Given the description of an element on the screen output the (x, y) to click on. 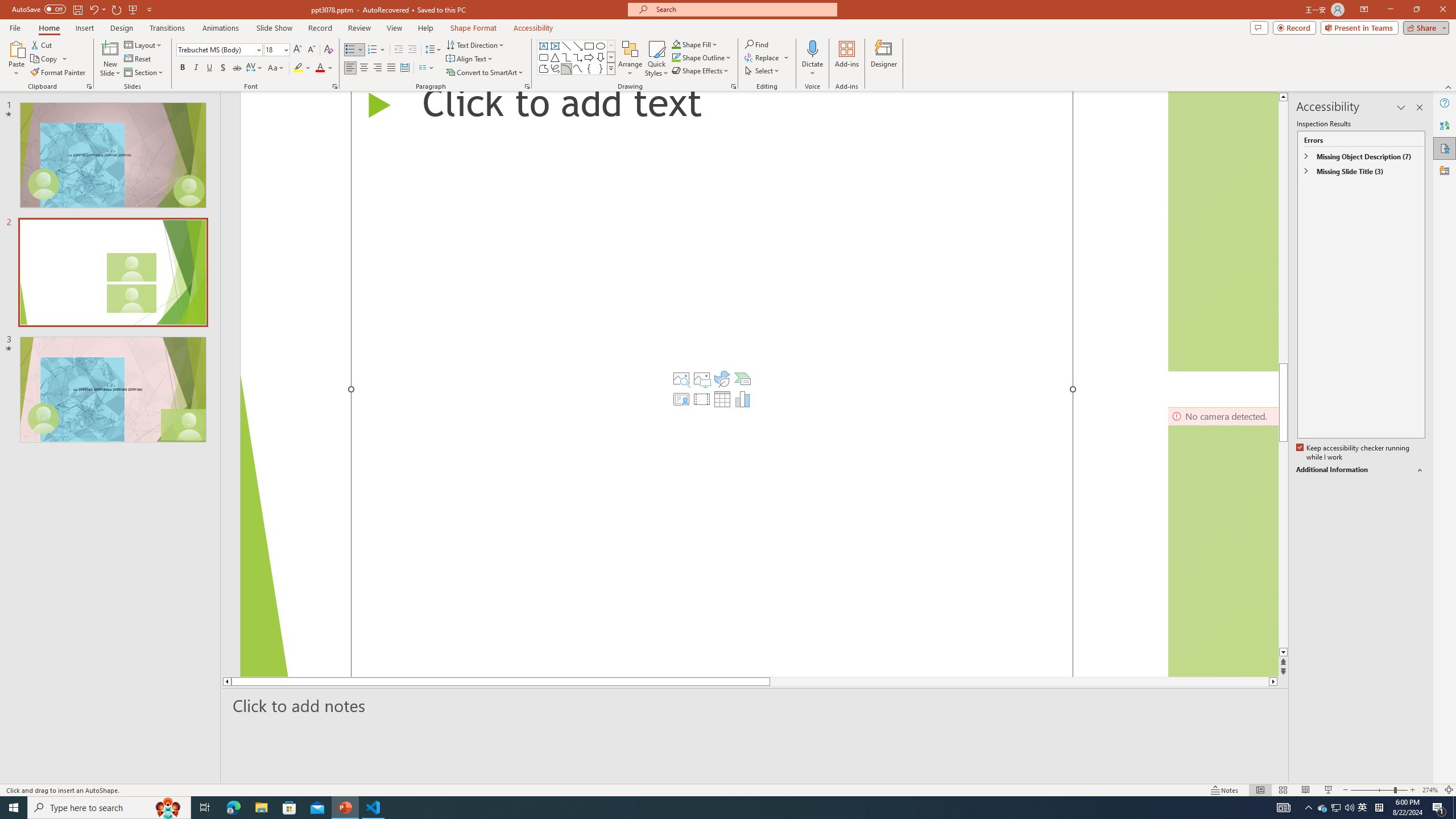
Zoom 274% (1430, 790)
Camera 3, No camera detected. (1222, 541)
